Given the description of an element on the screen output the (x, y) to click on. 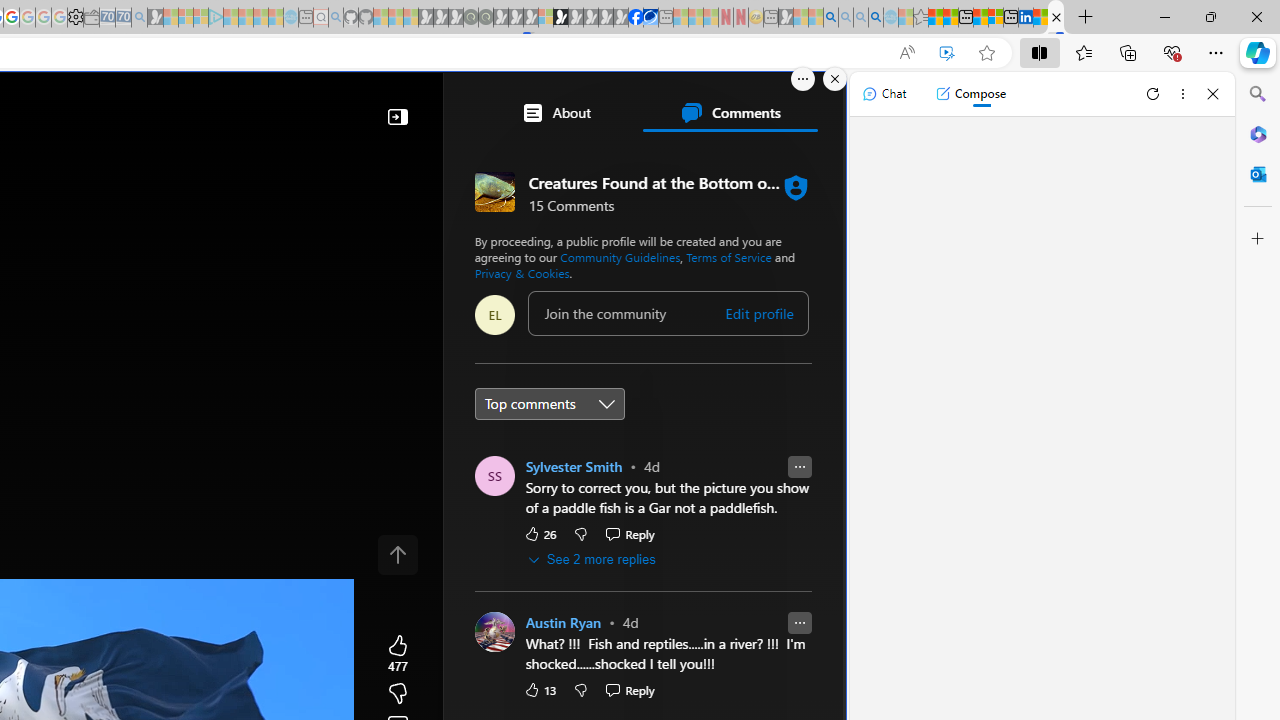
Bing AI - Search (831, 17)
Comments (729, 111)
Aberdeen, Hong Kong SAR weather forecast | Microsoft Weather (950, 17)
Enter your search term (311, 106)
Watch (81, 162)
ABC News (545, 557)
Compose (970, 93)
Nordace | Facebook (635, 17)
